Given the description of an element on the screen output the (x, y) to click on. 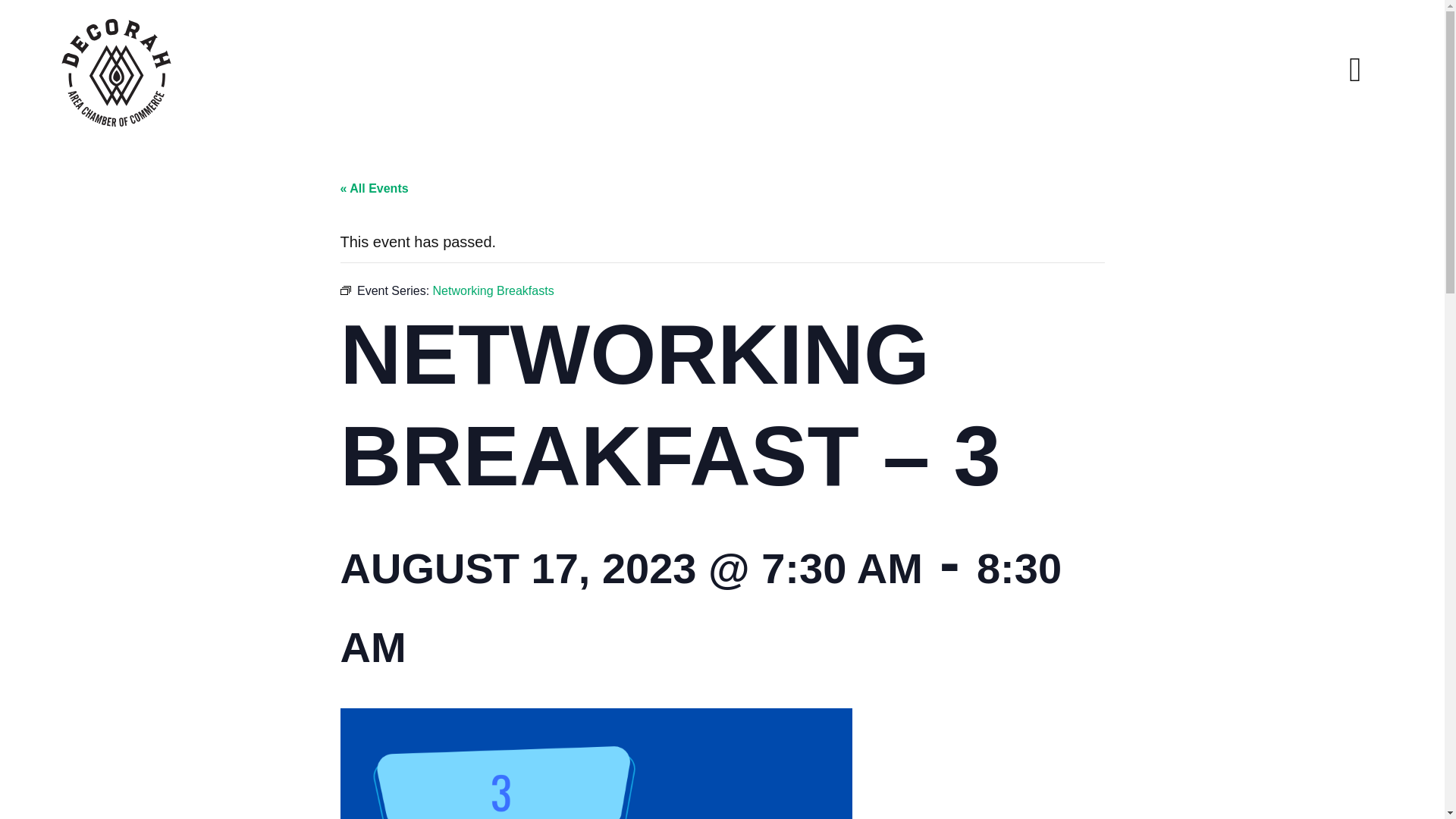
Event Series (344, 289)
Networking Breakfasts (493, 290)
